Given the description of an element on the screen output the (x, y) to click on. 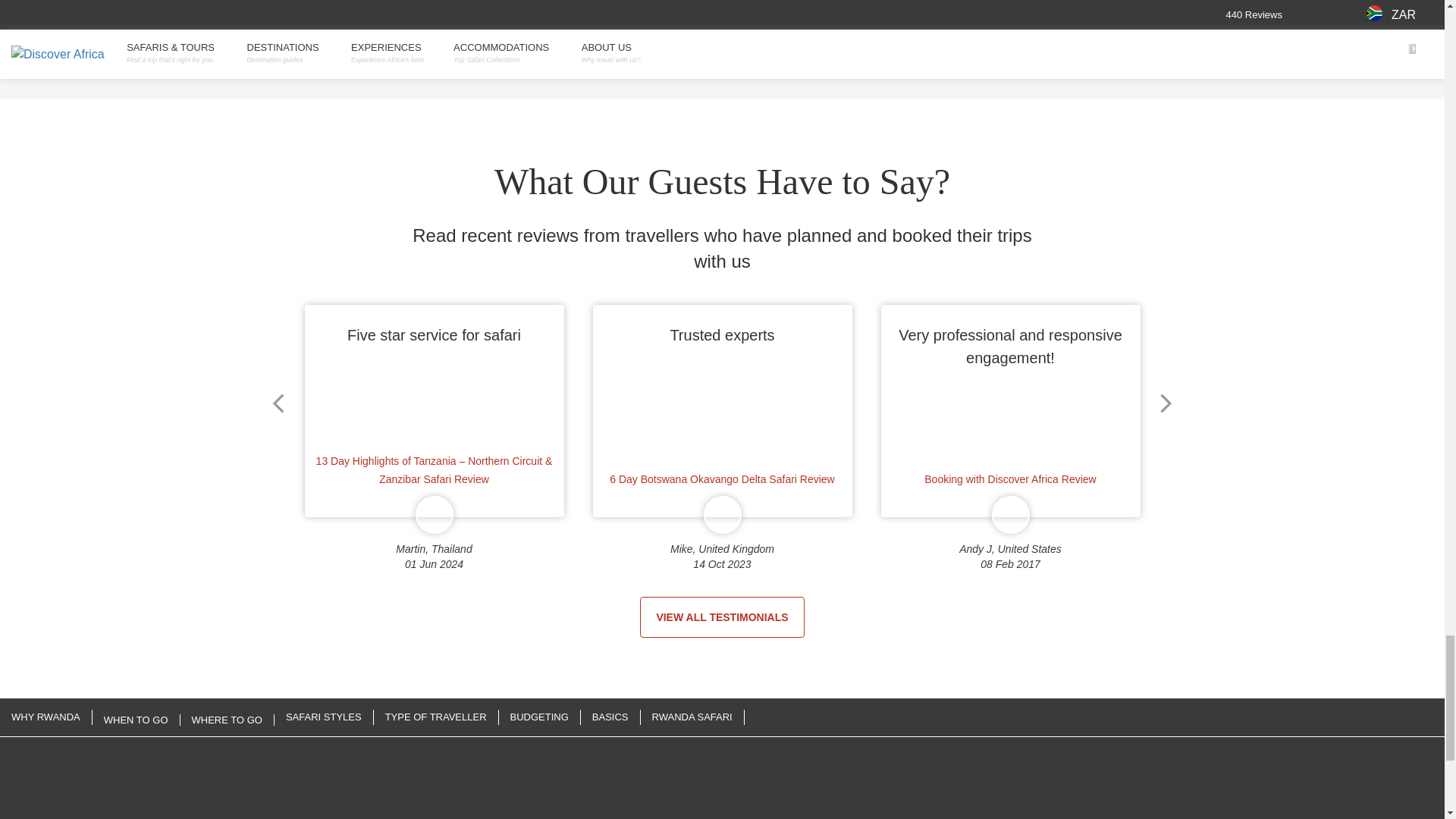
WHEN TO GO (136, 719)
WHERE TO GO (227, 719)
